Given the description of an element on the screen output the (x, y) to click on. 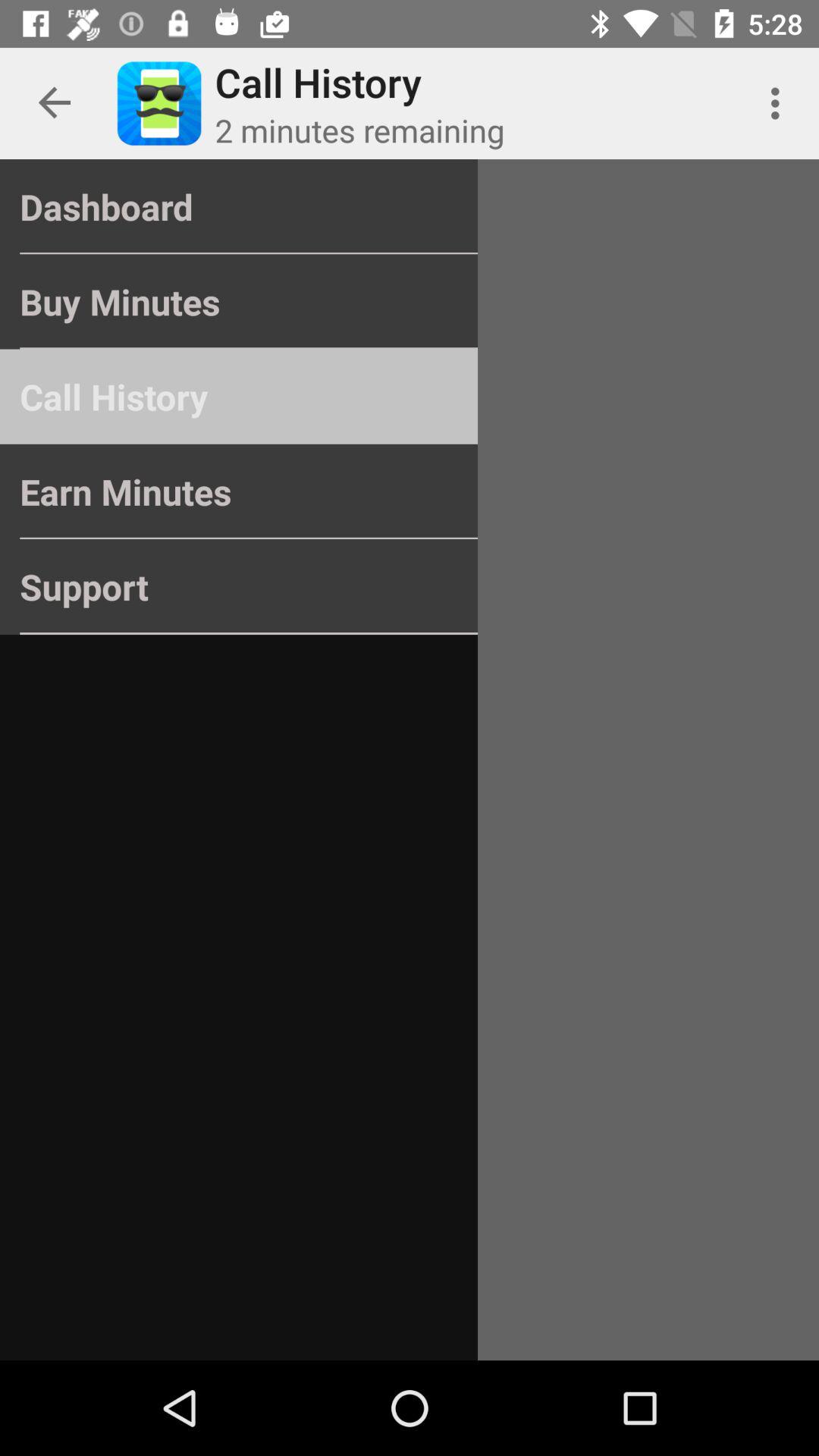
swipe until dashboard (238, 206)
